Given the description of an element on the screen output the (x, y) to click on. 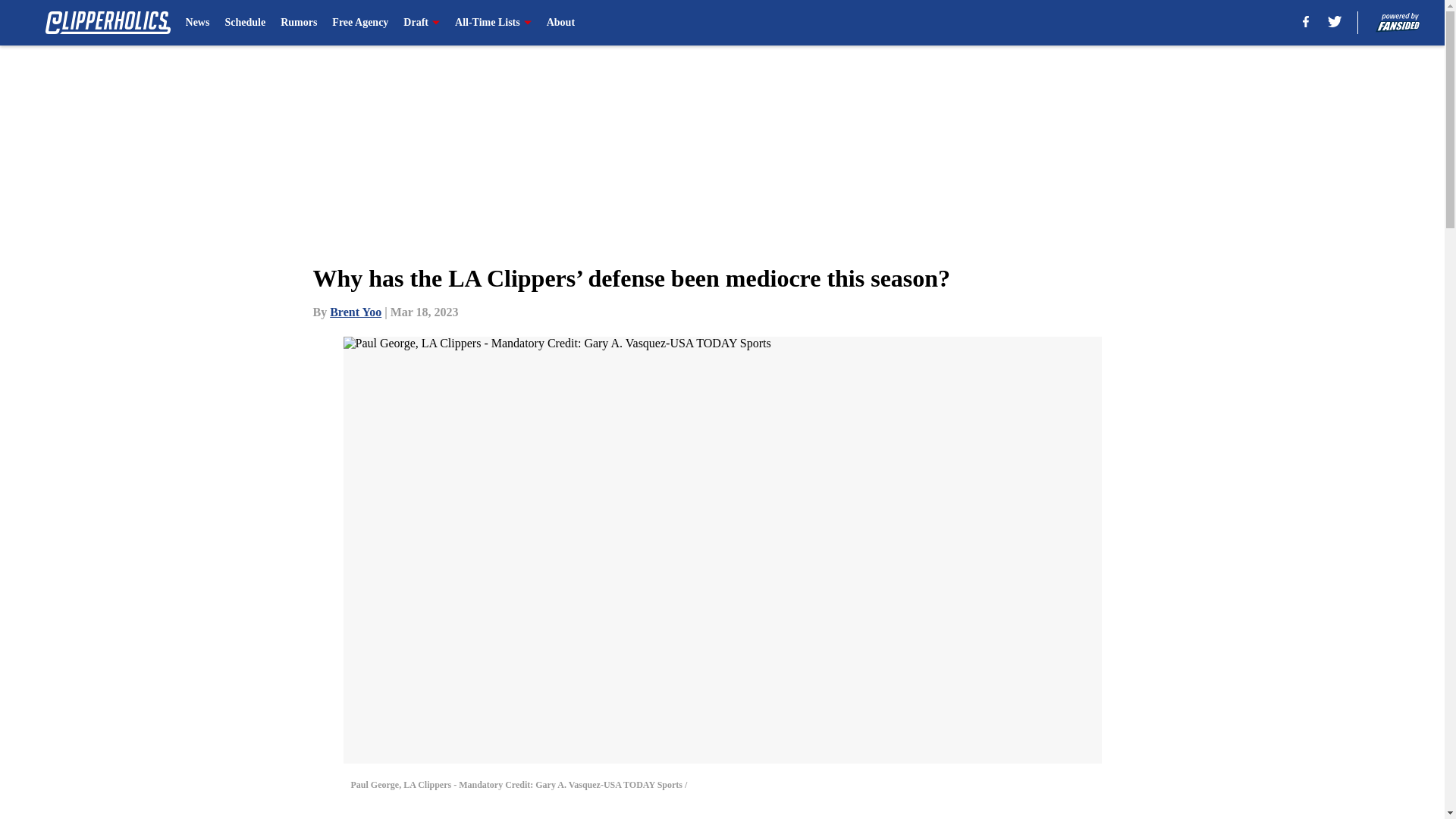
Rumors (299, 22)
News (197, 22)
Draft (421, 22)
About (561, 22)
Free Agency (359, 22)
All-Time Lists (492, 22)
Schedule (244, 22)
Brent Yoo (355, 311)
